Given the description of an element on the screen output the (x, y) to click on. 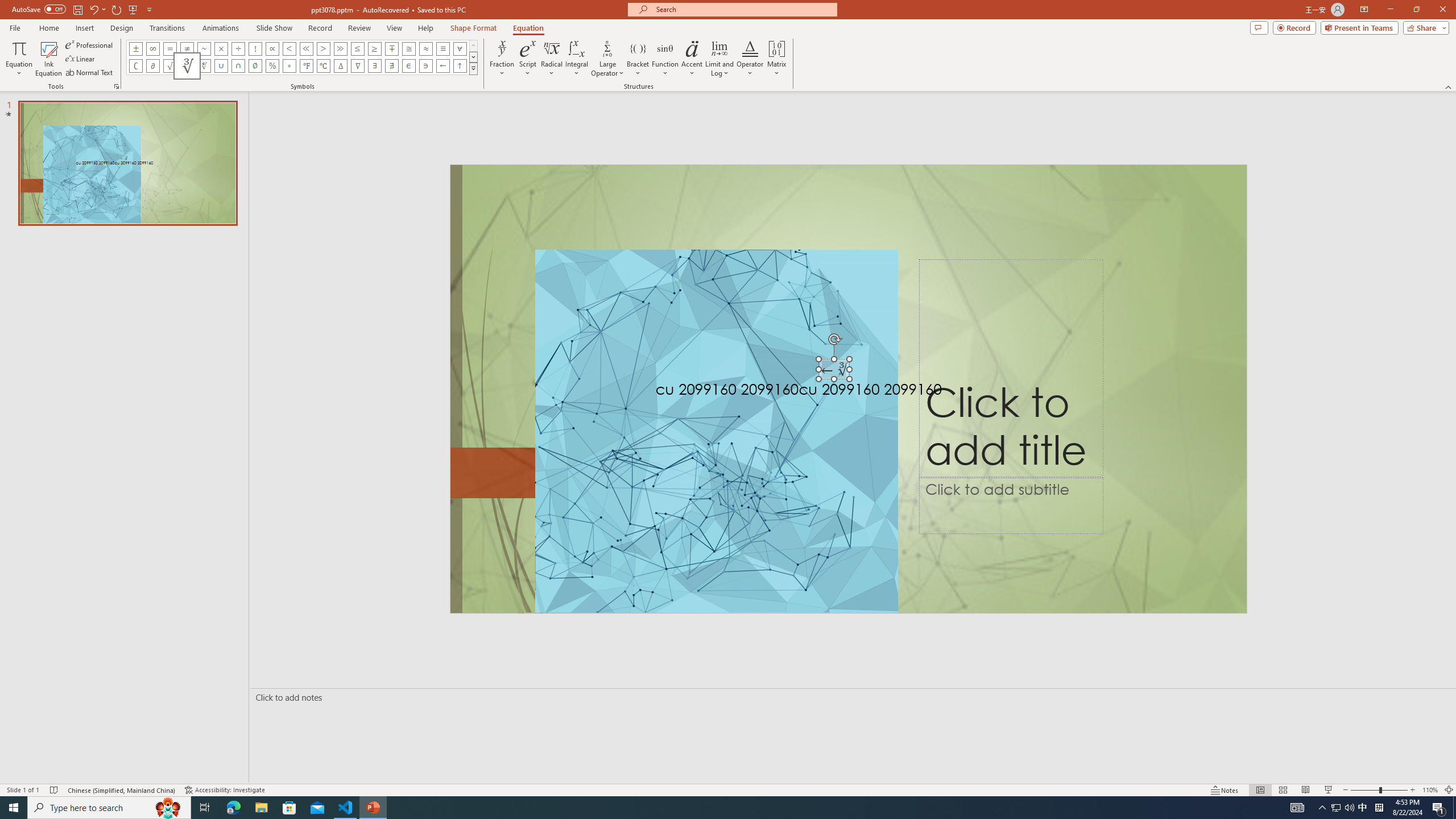
Equation Symbol Complement (136, 65)
Equation Symbol Increment (340, 65)
Radical (552, 58)
Accent (691, 58)
Equation Symbol Almost Equal To (Asymptotic To) (425, 48)
Function (664, 58)
Equation Symbol For All (459, 48)
AutomationID: EquationSymbolsInsertGallery (302, 57)
